Given the description of an element on the screen output the (x, y) to click on. 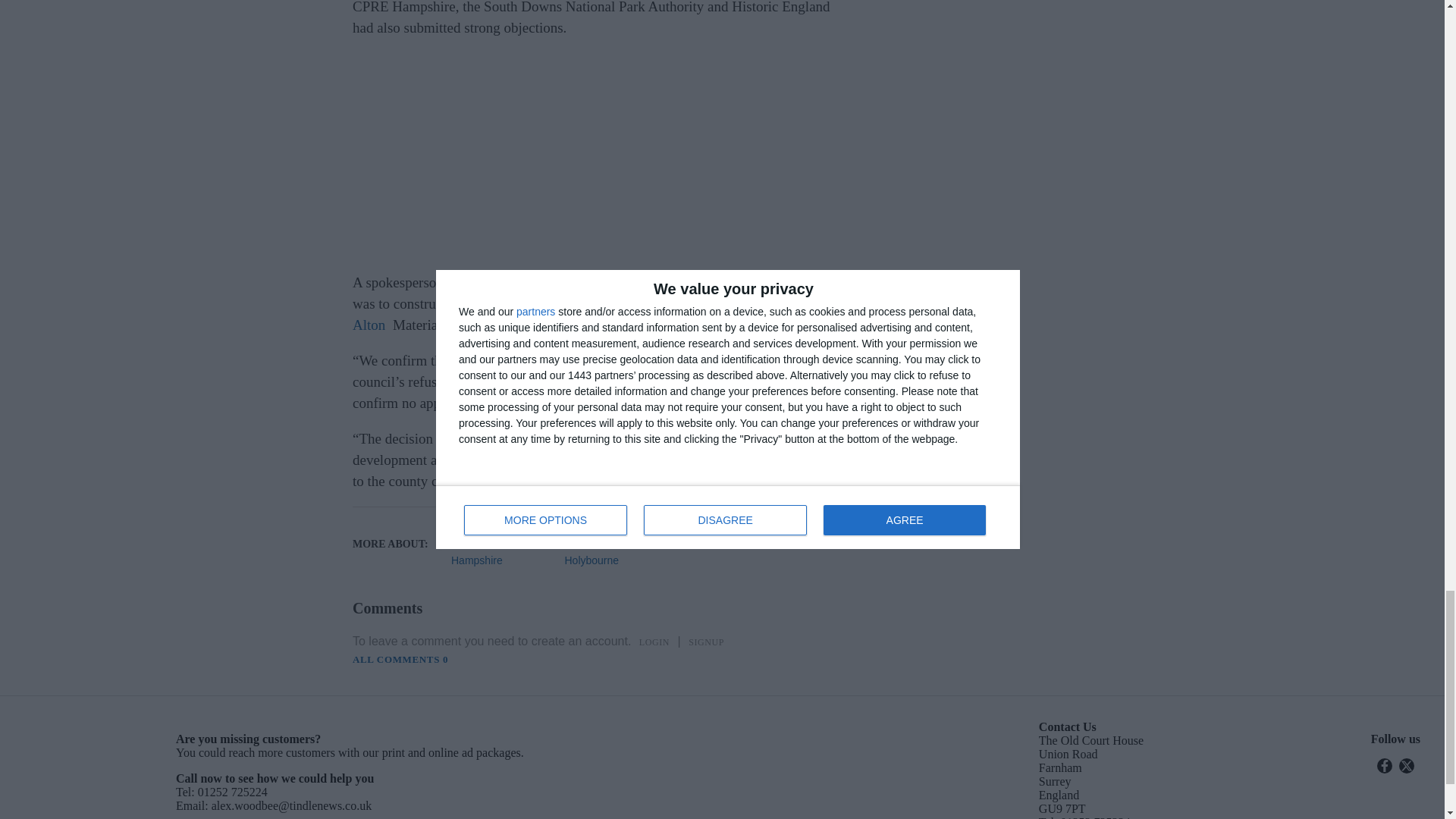
Alton (615, 534)
Hampshire (502, 560)
Hampshire County Council (502, 534)
Alton (368, 324)
